Given the description of an element on the screen output the (x, y) to click on. 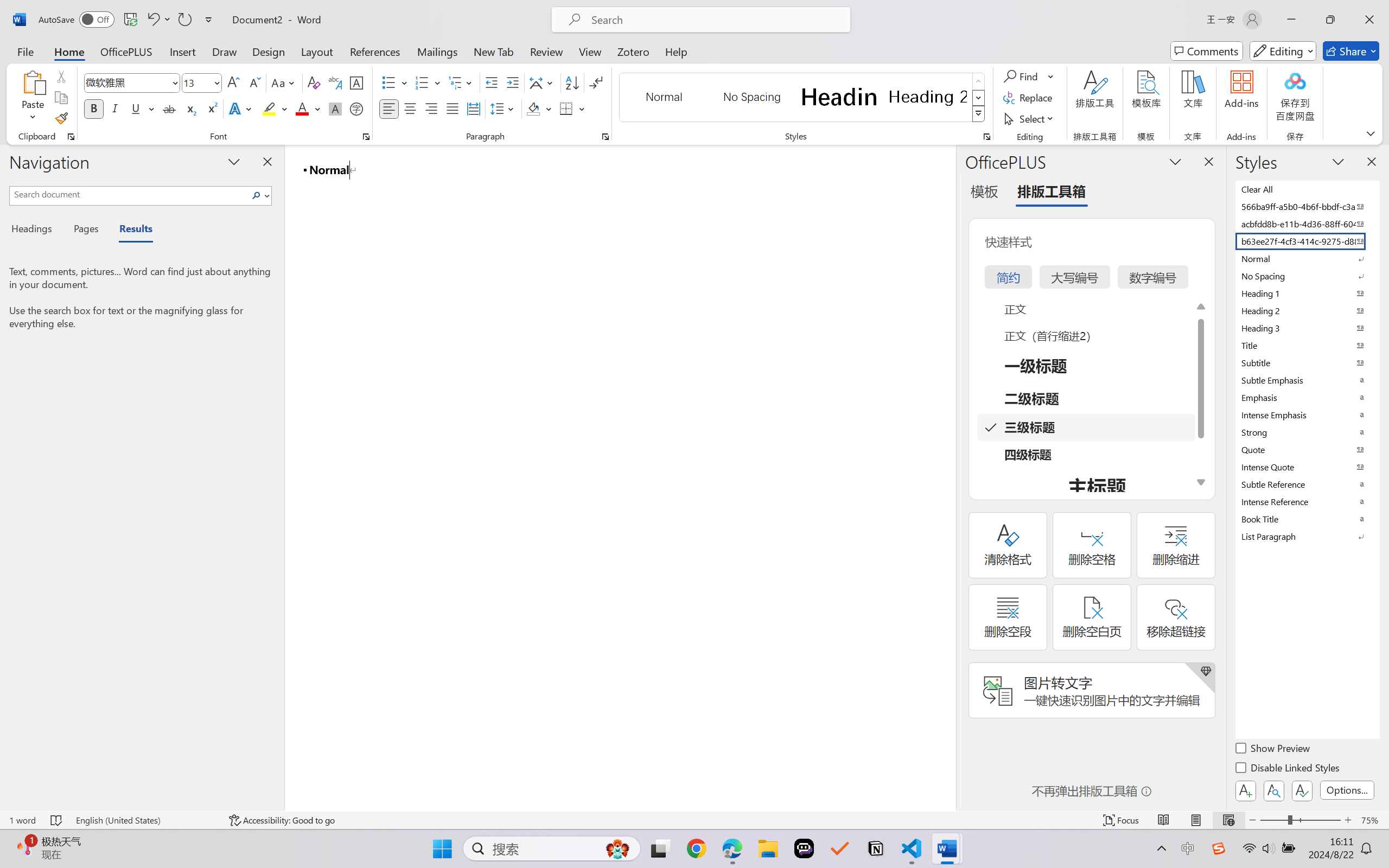
Show/Hide Editing Marks (595, 82)
AutomationID: QuickStylesGallery (802, 97)
Subtle Emphasis (1306, 379)
acbfdd8b-e11b-4d36-88ff-6049b138f862 (1306, 223)
Undo <ApplyStyleToDoc>b__0 (158, 19)
Subtle Reference (1306, 484)
Results (130, 229)
Text Highlight Color (274, 108)
Subtitle (1306, 362)
Align Right (431, 108)
AutomationID: BadgeAnchorLargeTicker (24, 847)
